Given the description of an element on the screen output the (x, y) to click on. 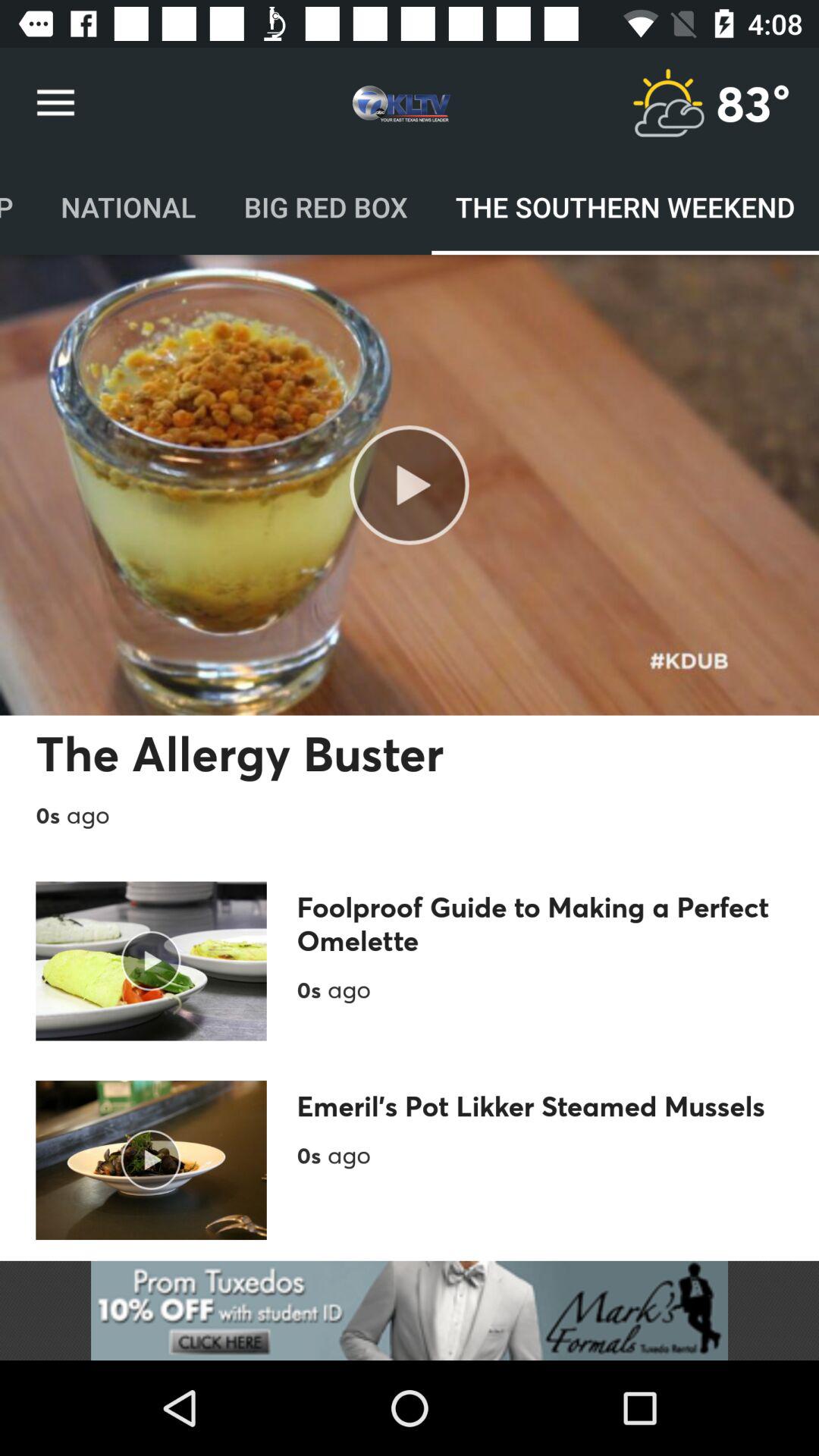
go to weather (668, 103)
